Given the description of an element on the screen output the (x, y) to click on. 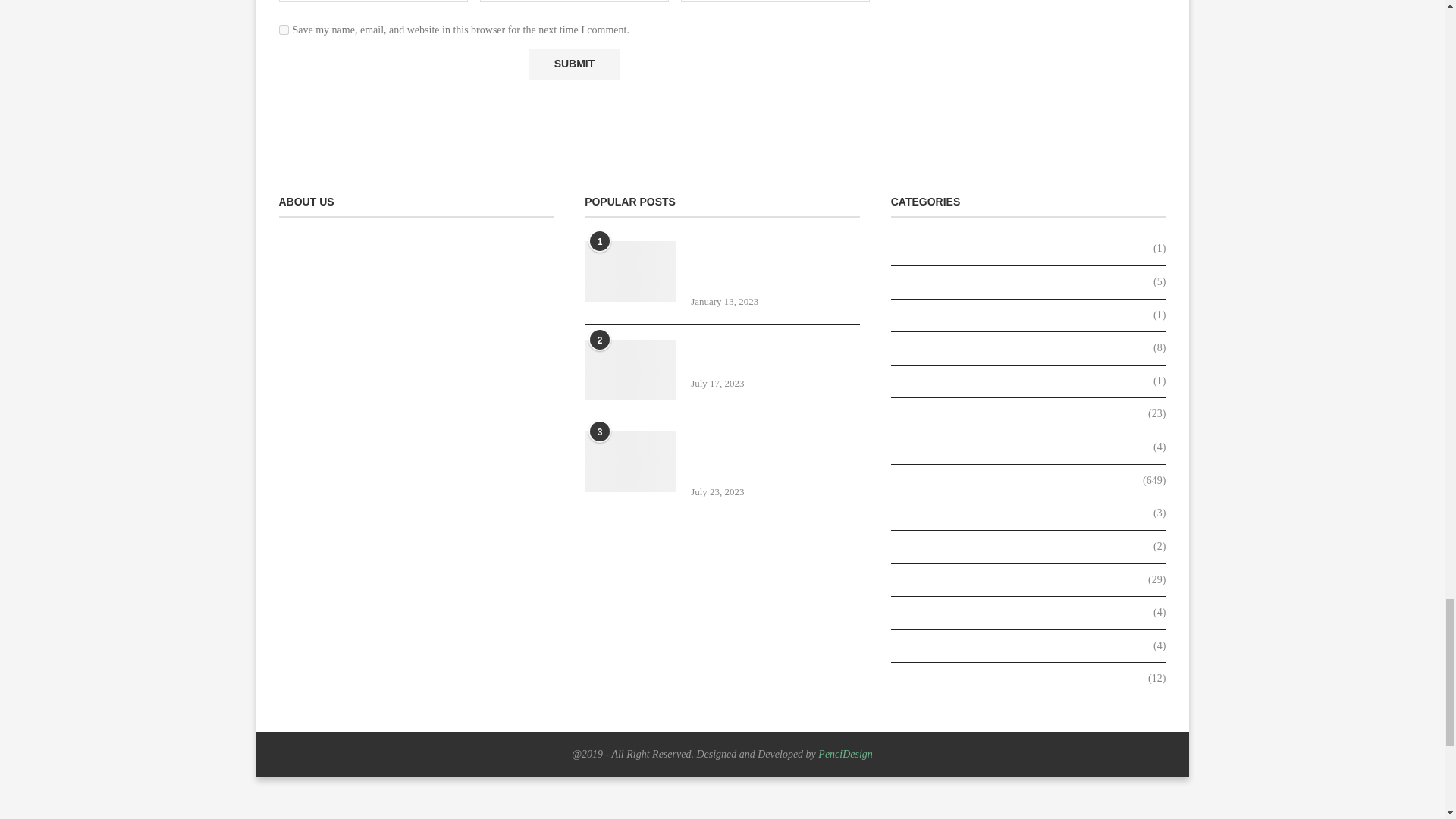
yes (283, 30)
Submit (574, 63)
